Given the description of an element on the screen output the (x, y) to click on. 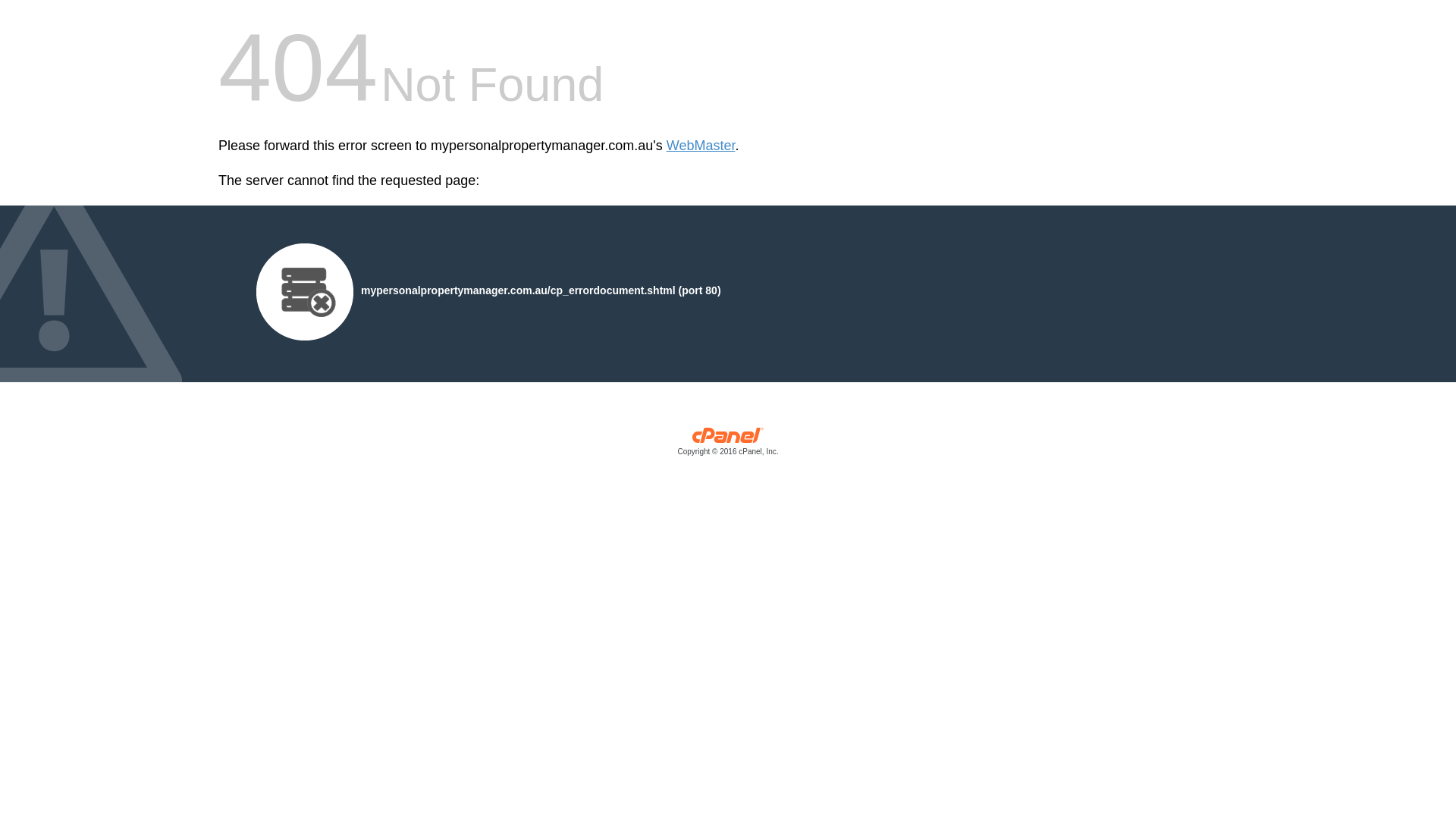
WebMaster Element type: text (700, 145)
